Given the description of an element on the screen output the (x, y) to click on. 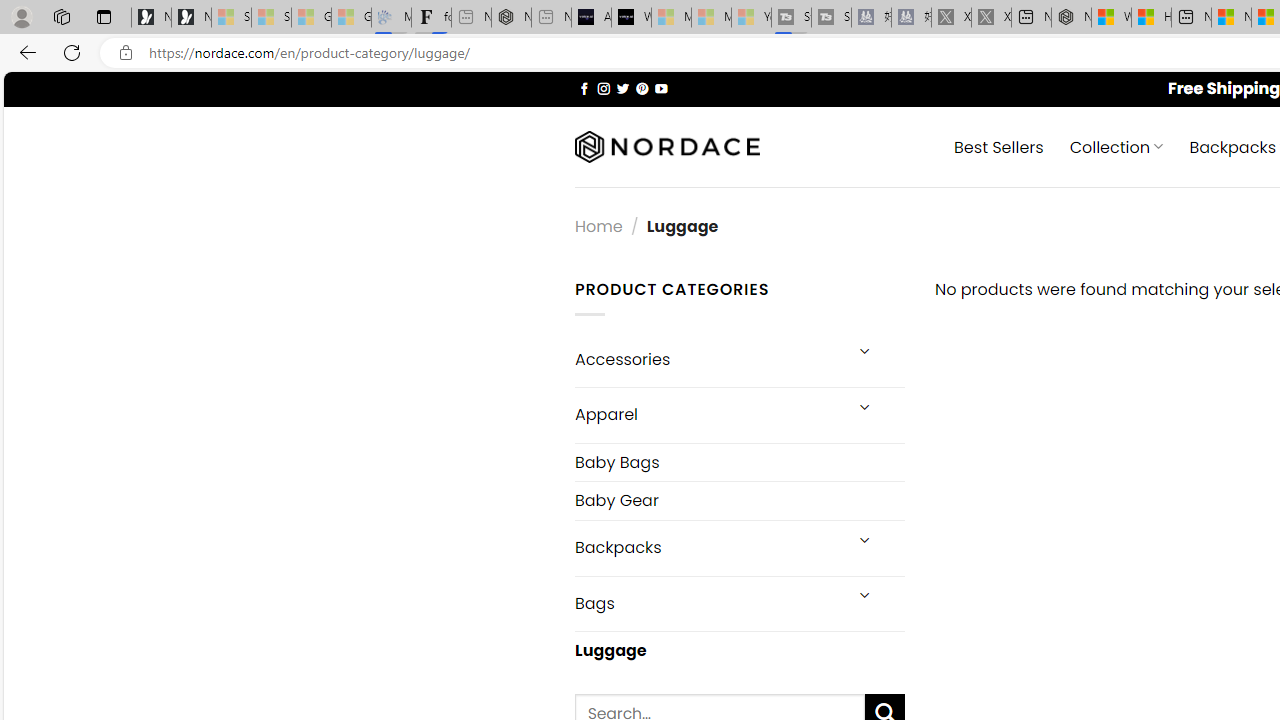
Baby Bags (739, 461)
Luggage (739, 651)
Luggage (739, 650)
Follow on Pinterest (642, 88)
Baby Gear (739, 499)
